Given the description of an element on the screen output the (x, y) to click on. 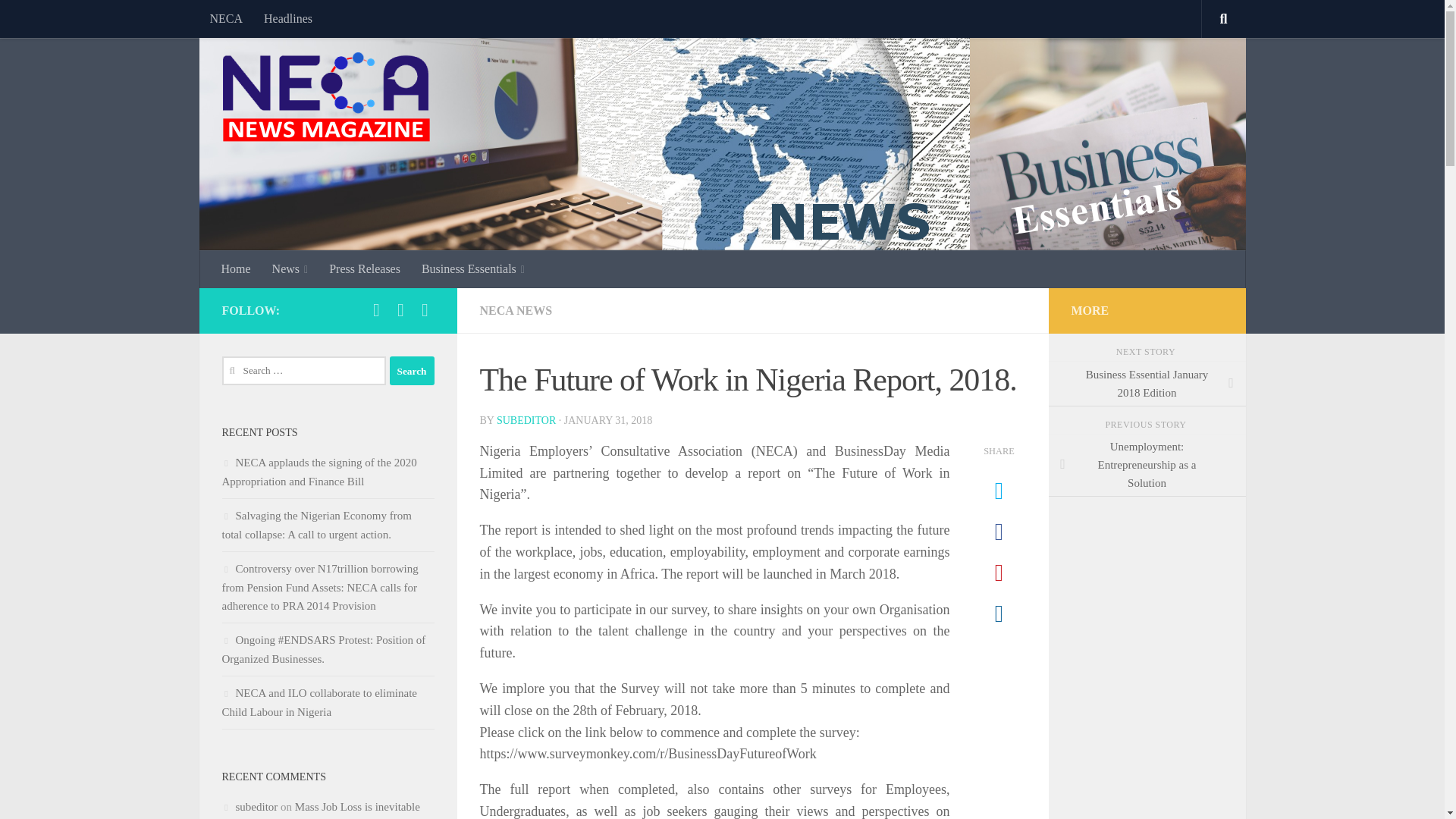
News (290, 269)
Skip to content (59, 20)
NECA (225, 18)
Home (236, 269)
SUBEDITOR (526, 419)
Press Releases (364, 269)
NECA NEWS (515, 309)
Business Essentials (472, 269)
Twitter (400, 310)
Search (411, 370)
